Given the description of an element on the screen output the (x, y) to click on. 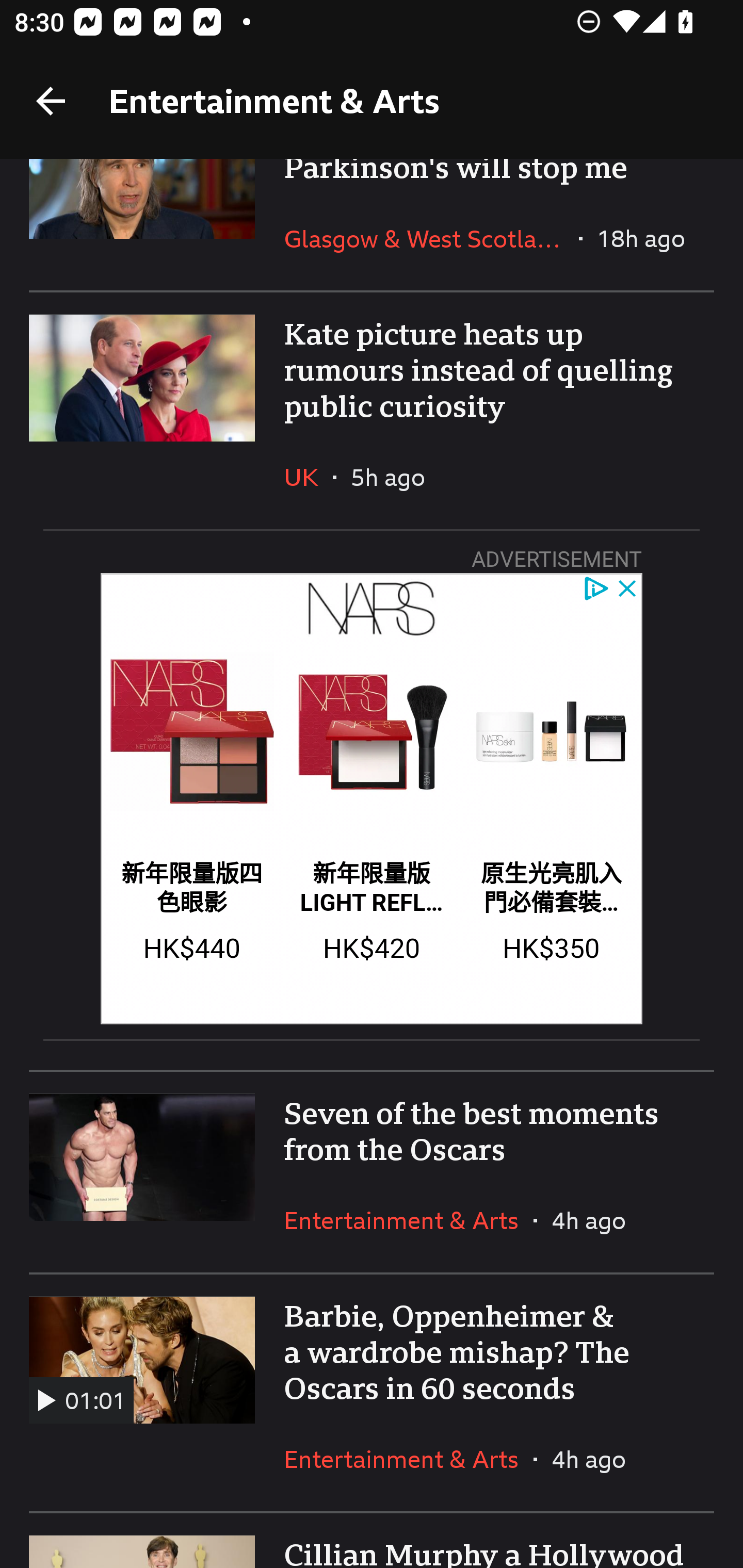
Back (50, 101)
UK In the section UK (307, 476)
